Given the description of an element on the screen output the (x, y) to click on. 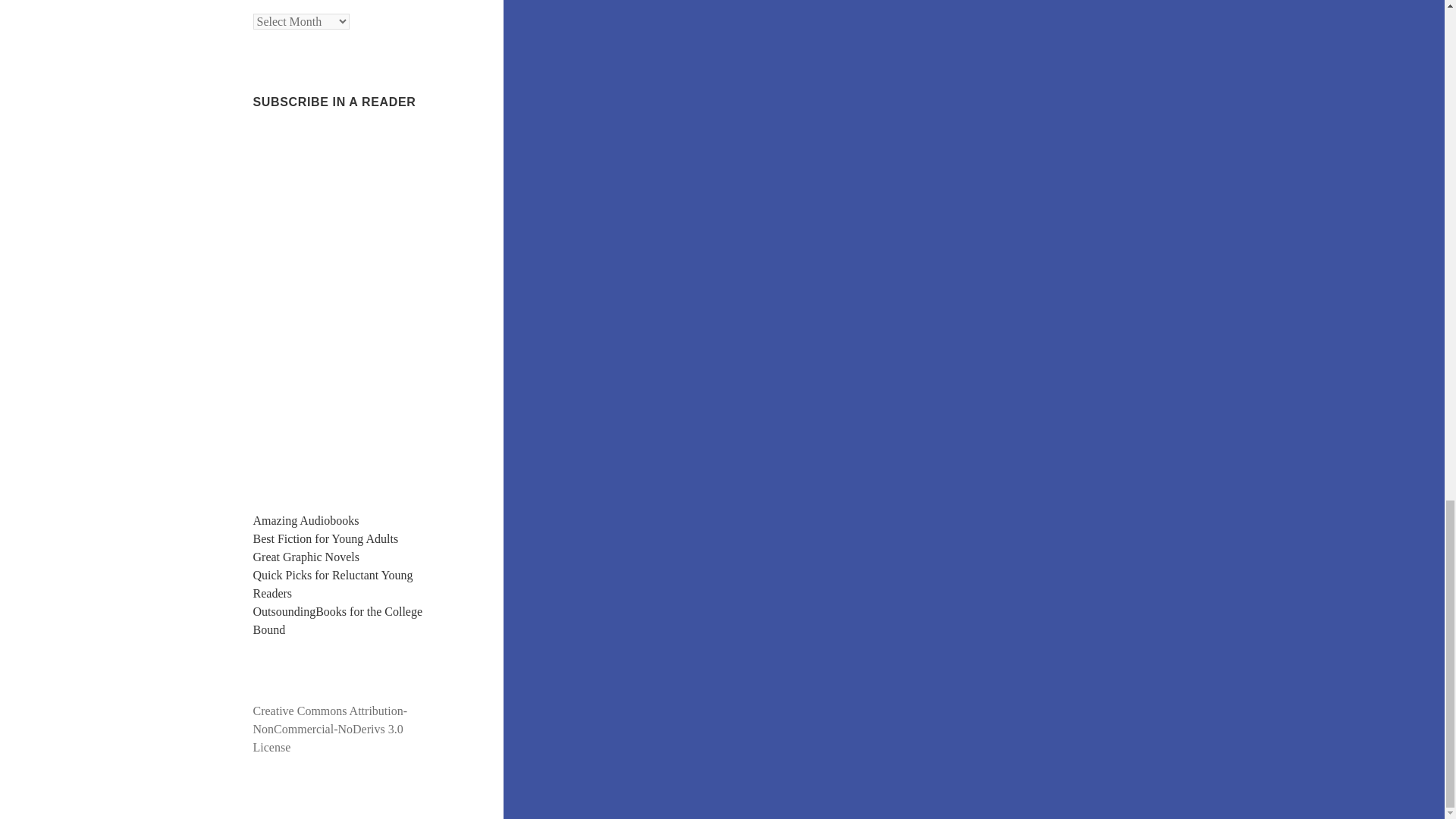
Quick Picks for Reluctant Young Readers (333, 583)
Great Graphic Novels (306, 556)
Best Fiction for Young Adults (325, 538)
OutsoundingBooks for the College Bound (338, 620)
Amazing Audiobooks (306, 520)
